Given the description of an element on the screen output the (x, y) to click on. 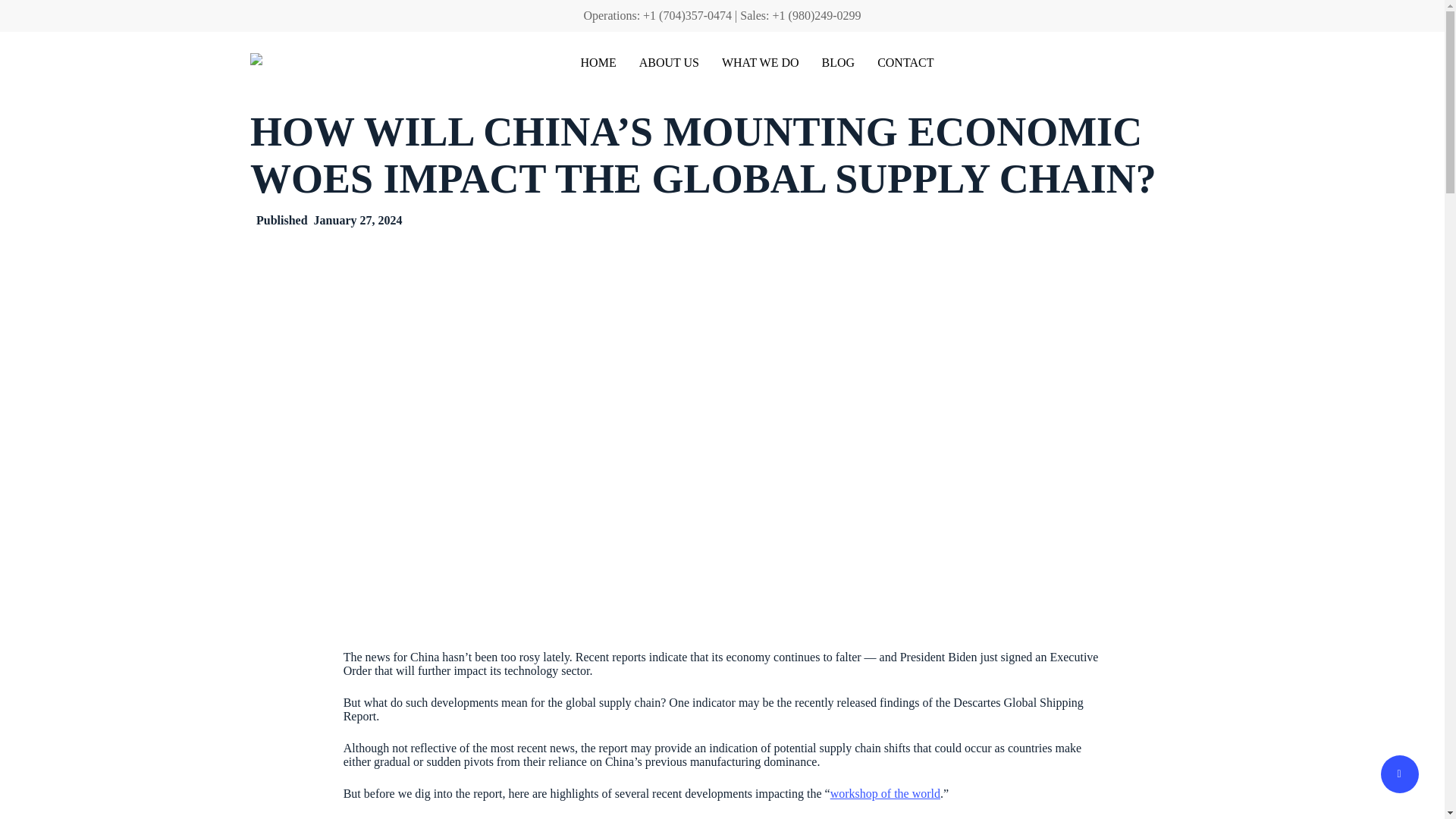
WHAT WE DO (760, 61)
HOME (597, 61)
ABOUT US (668, 61)
CONTACT (905, 61)
BLOG (839, 61)
workshop of the world (884, 793)
